Given the description of an element on the screen output the (x, y) to click on. 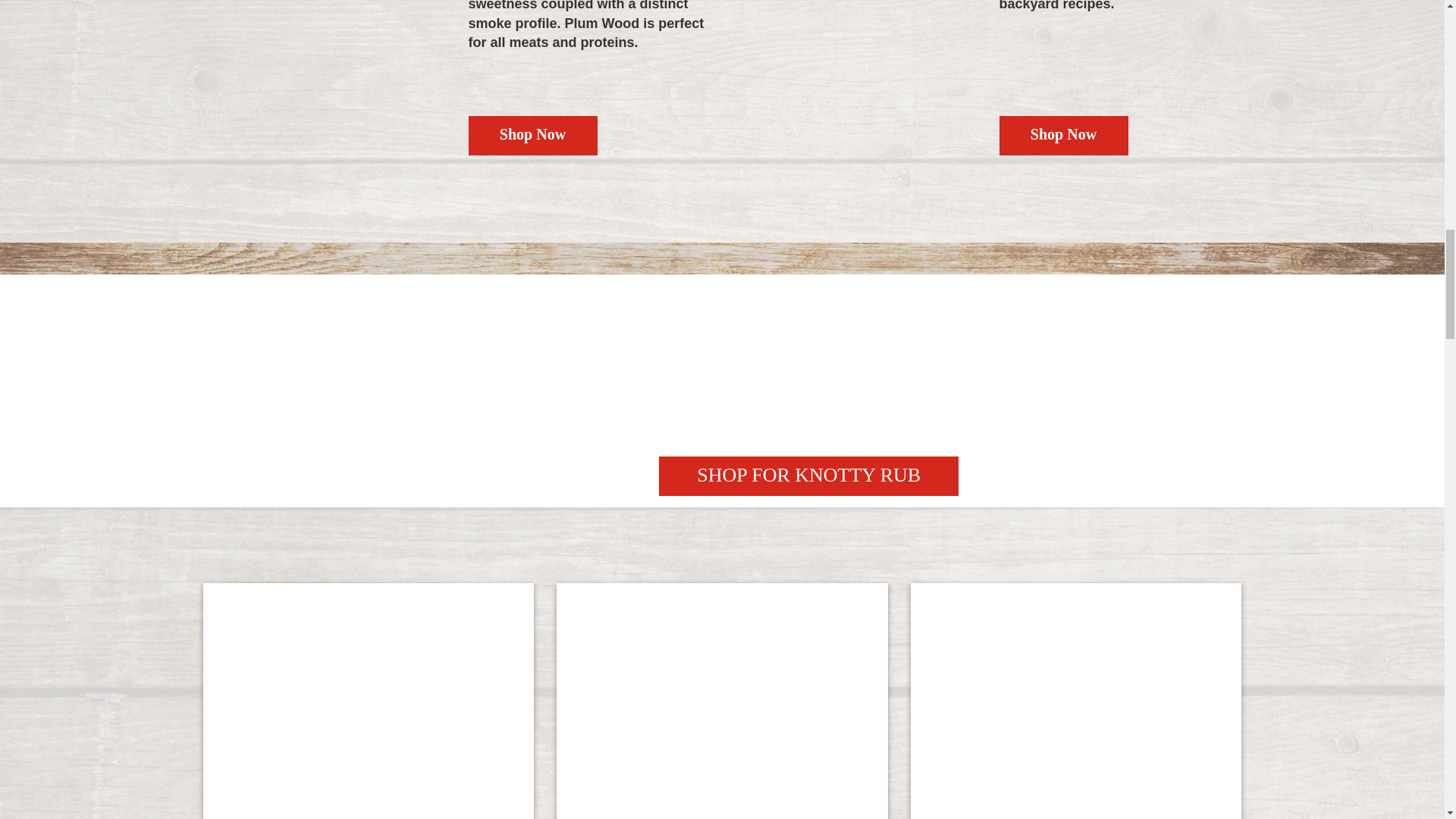
SHOP FOR KNOTTY RUB (808, 476)
Shop Now (532, 136)
Shop Now (1063, 136)
